Given the description of an element on the screen output the (x, y) to click on. 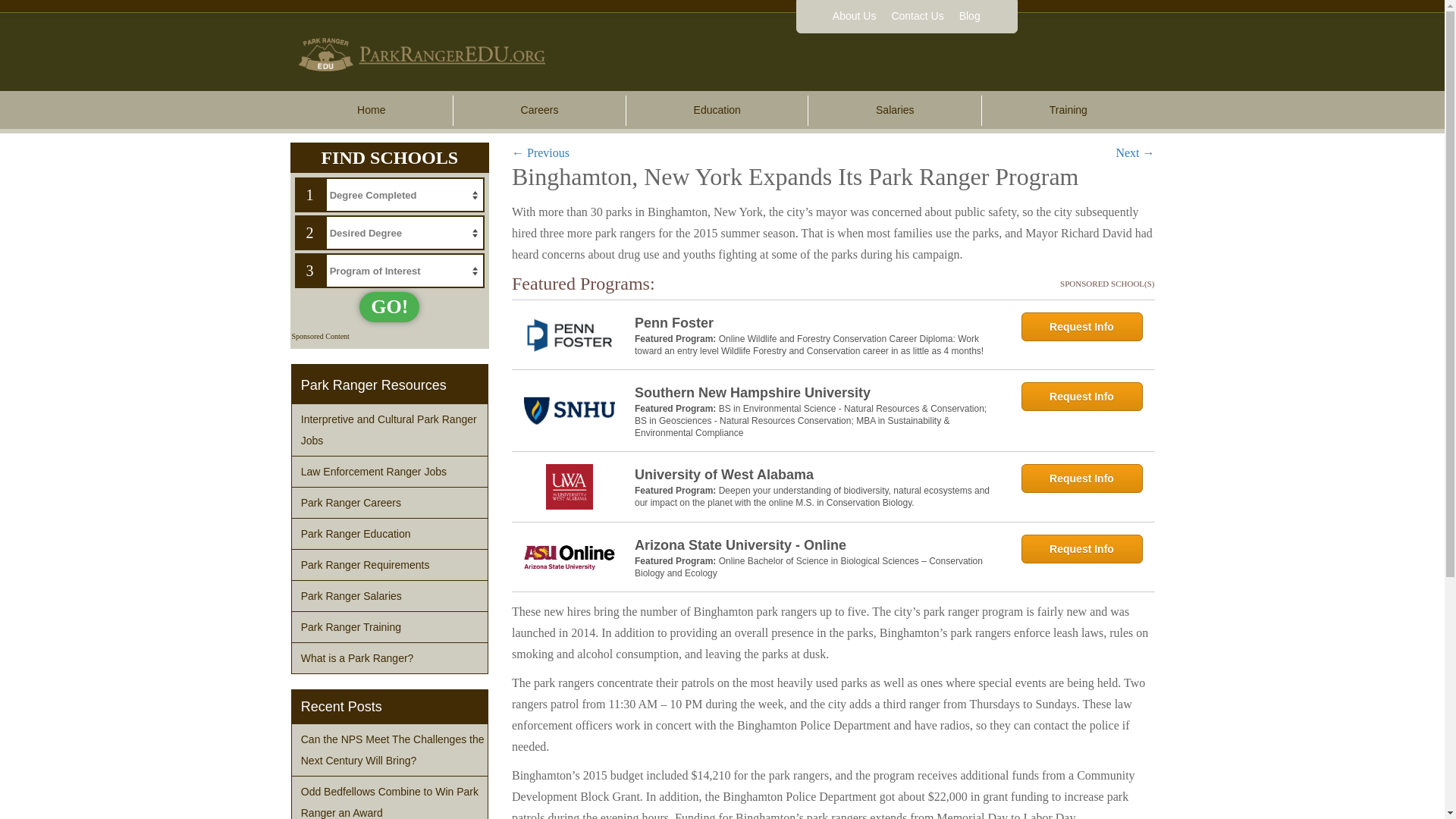
Law Enforcement Ranger Jobs (389, 471)
Request Info (1080, 478)
University of West Alabama (817, 474)
Training (1067, 110)
Contact Us (916, 16)
Request Info (1080, 396)
Park Ranger Careers (389, 502)
Home (370, 110)
Park Ranger Requirements (389, 564)
Penn Foster (817, 322)
Southern New Hampshire University (817, 392)
Park Ranger Resources (389, 385)
Careers (539, 110)
Request Info (1080, 326)
Interpretive and Cultural Park Ranger Jobs (389, 429)
